Given the description of an element on the screen output the (x, y) to click on. 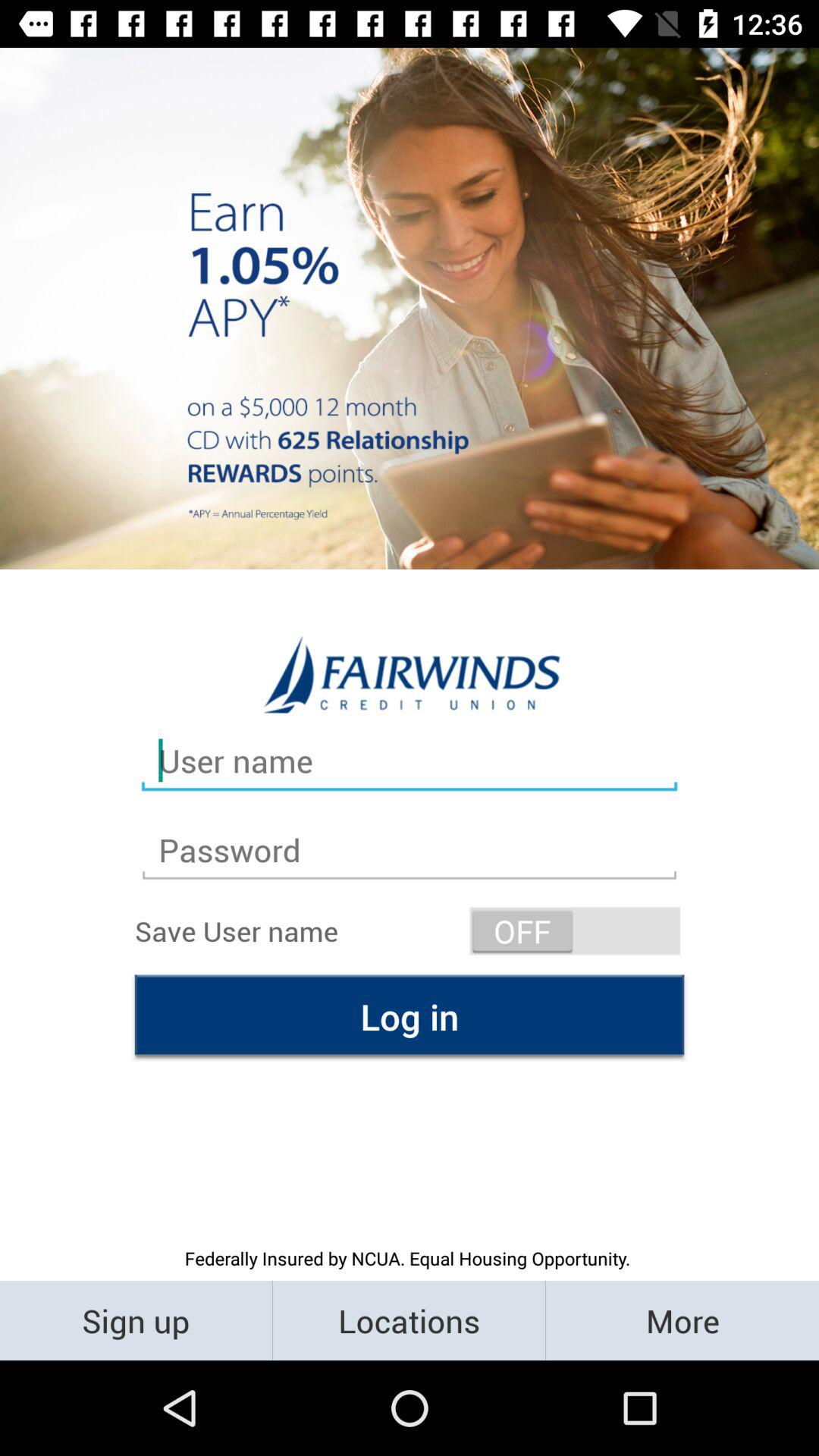
click the sign up item (136, 1320)
